Given the description of an element on the screen output the (x, y) to click on. 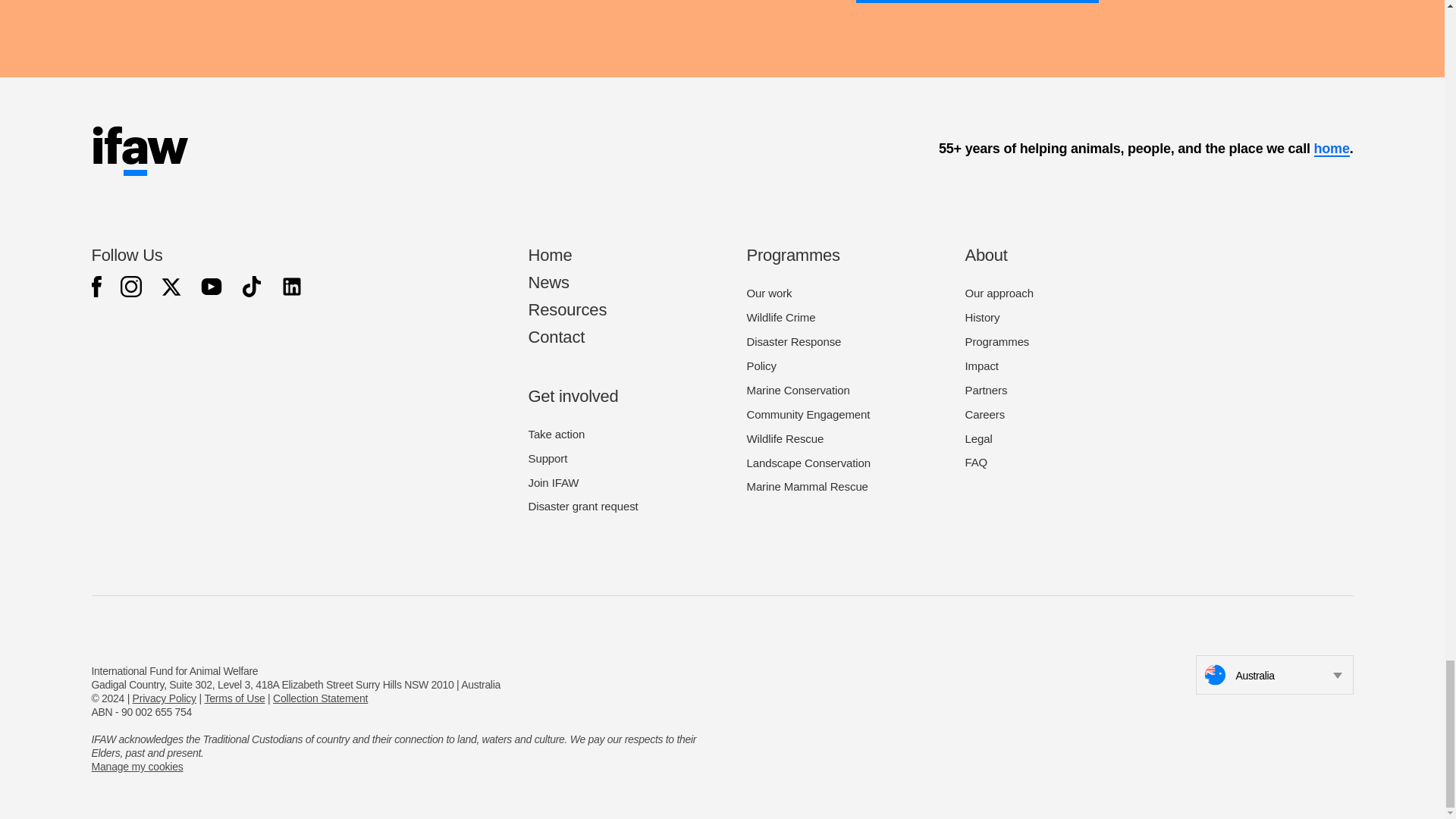
News (548, 281)
Contact (556, 336)
Support (547, 458)
give to solve (976, 1)
Take action (556, 433)
home (1331, 148)
Resources (567, 309)
Home (549, 254)
